Given the description of an element on the screen output the (x, y) to click on. 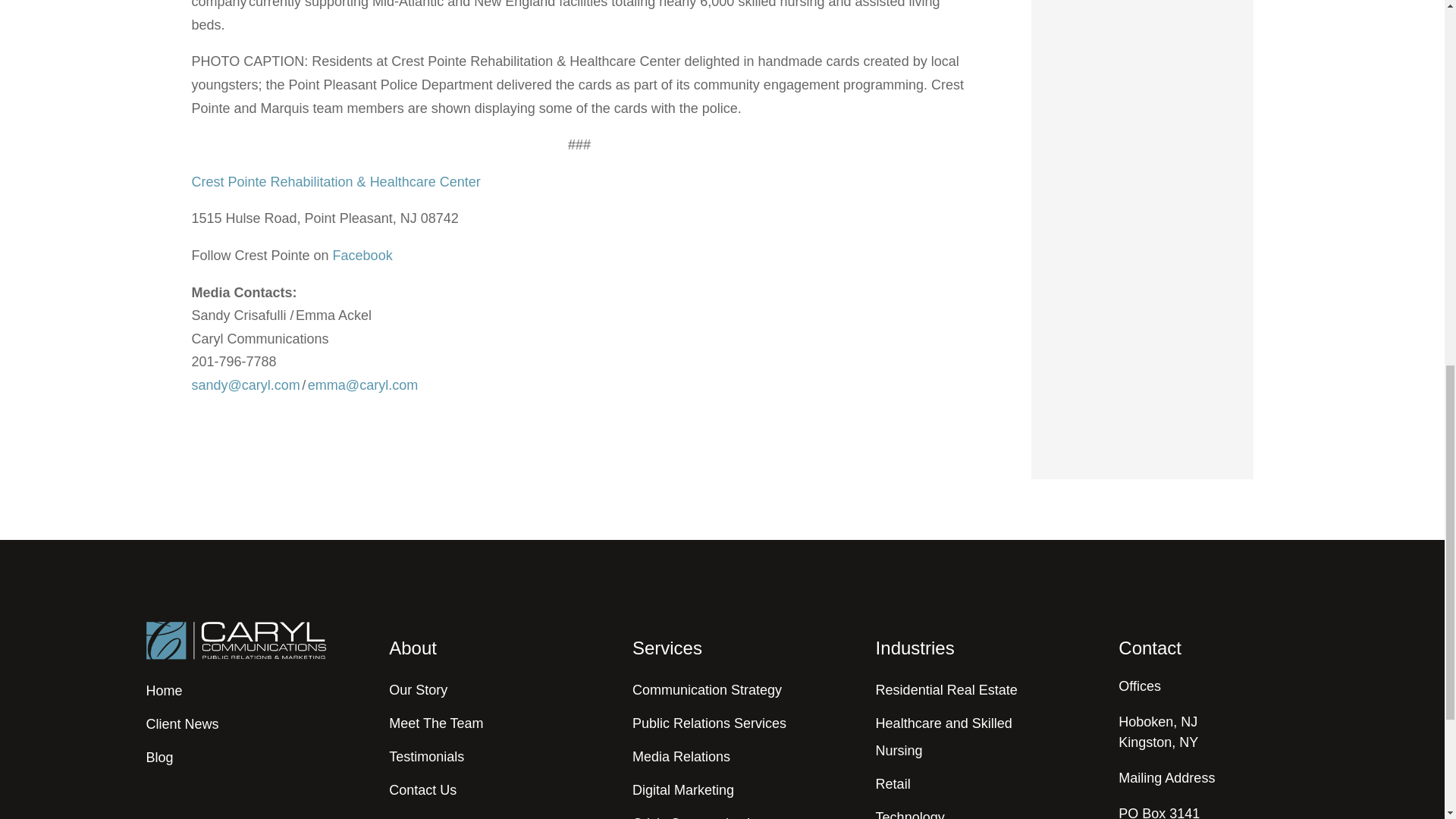
Caryl-Logo-white (234, 640)
